Given the description of an element on the screen output the (x, y) to click on. 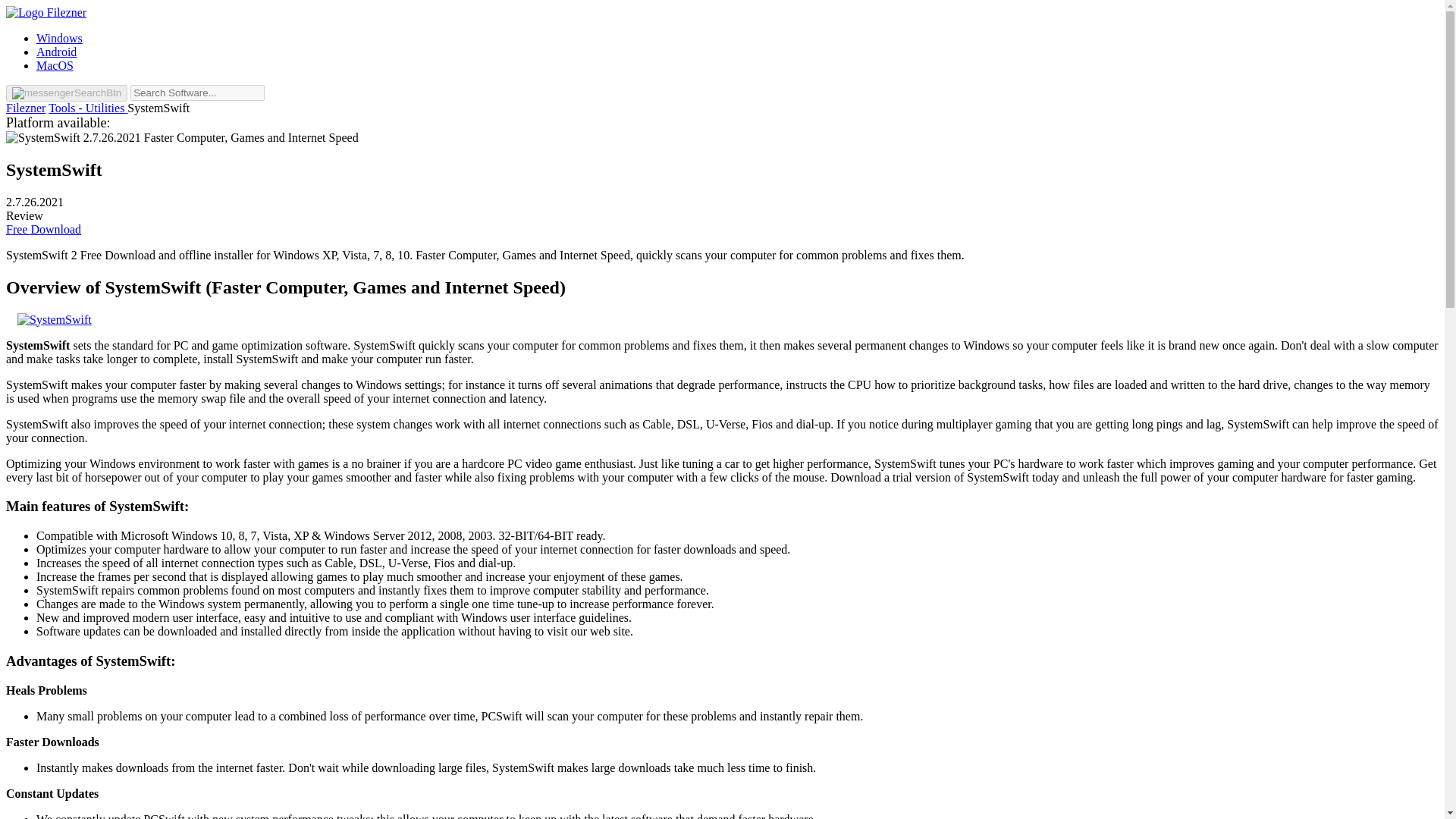
MacOS (55, 65)
MacOS (55, 65)
Windows (59, 38)
Android (56, 51)
Tools - Utilities (88, 107)
SystemSwift (53, 169)
Android (56, 51)
Windows (59, 38)
Filezner (25, 107)
